Given the description of an element on the screen output the (x, y) to click on. 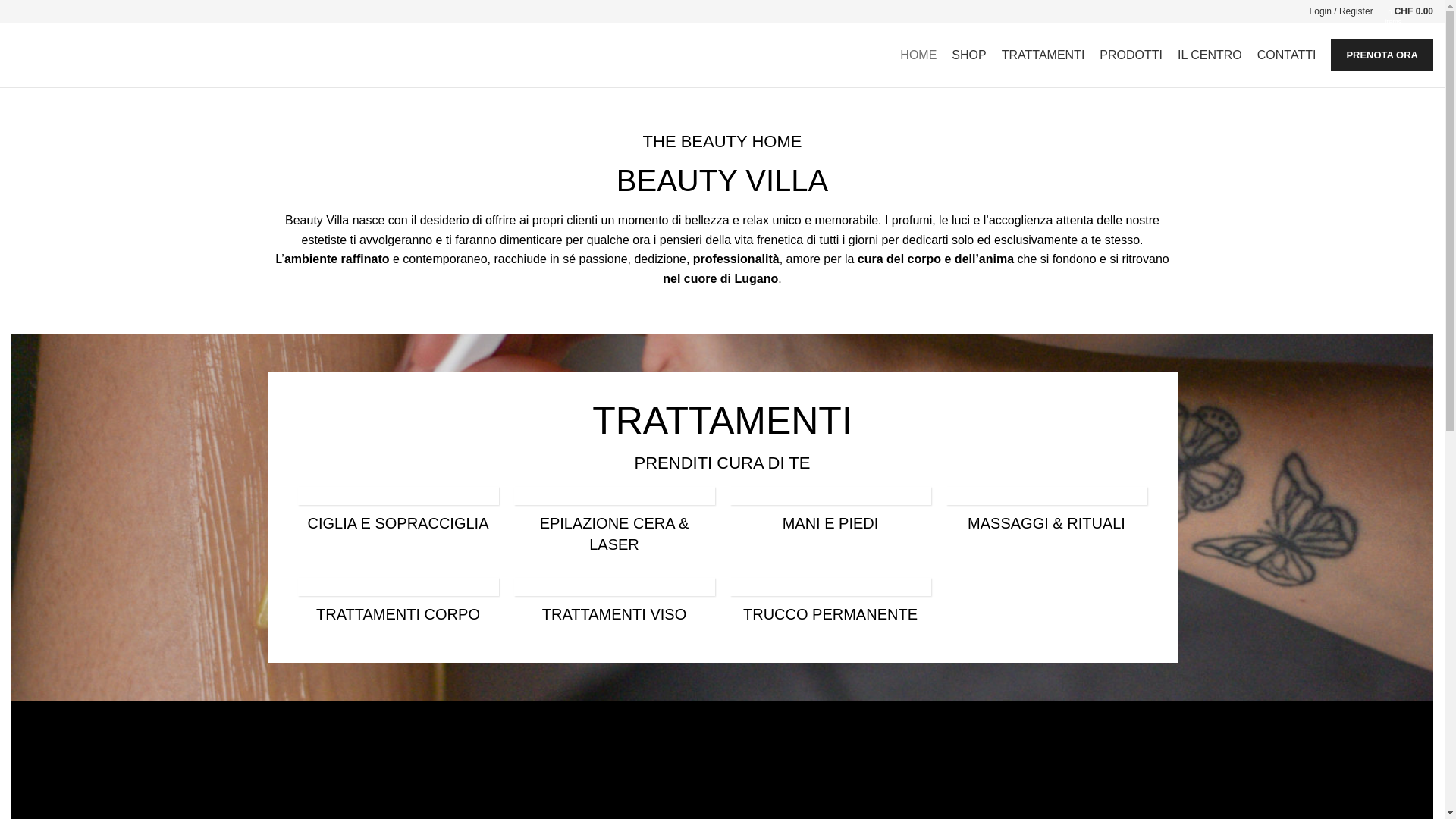
HOME Element type: text (918, 54)
TRATTAMENTI Element type: text (1043, 54)
PRENOTA ORA Element type: text (1381, 55)
PRODOTTI Element type: text (1130, 54)
CONTATTI Element type: text (1286, 54)
SHOP Element type: text (968, 54)
IL CENTRO Element type: text (1209, 54)
Log in Element type: text (1348, 299)
